Given the description of an element on the screen output the (x, y) to click on. 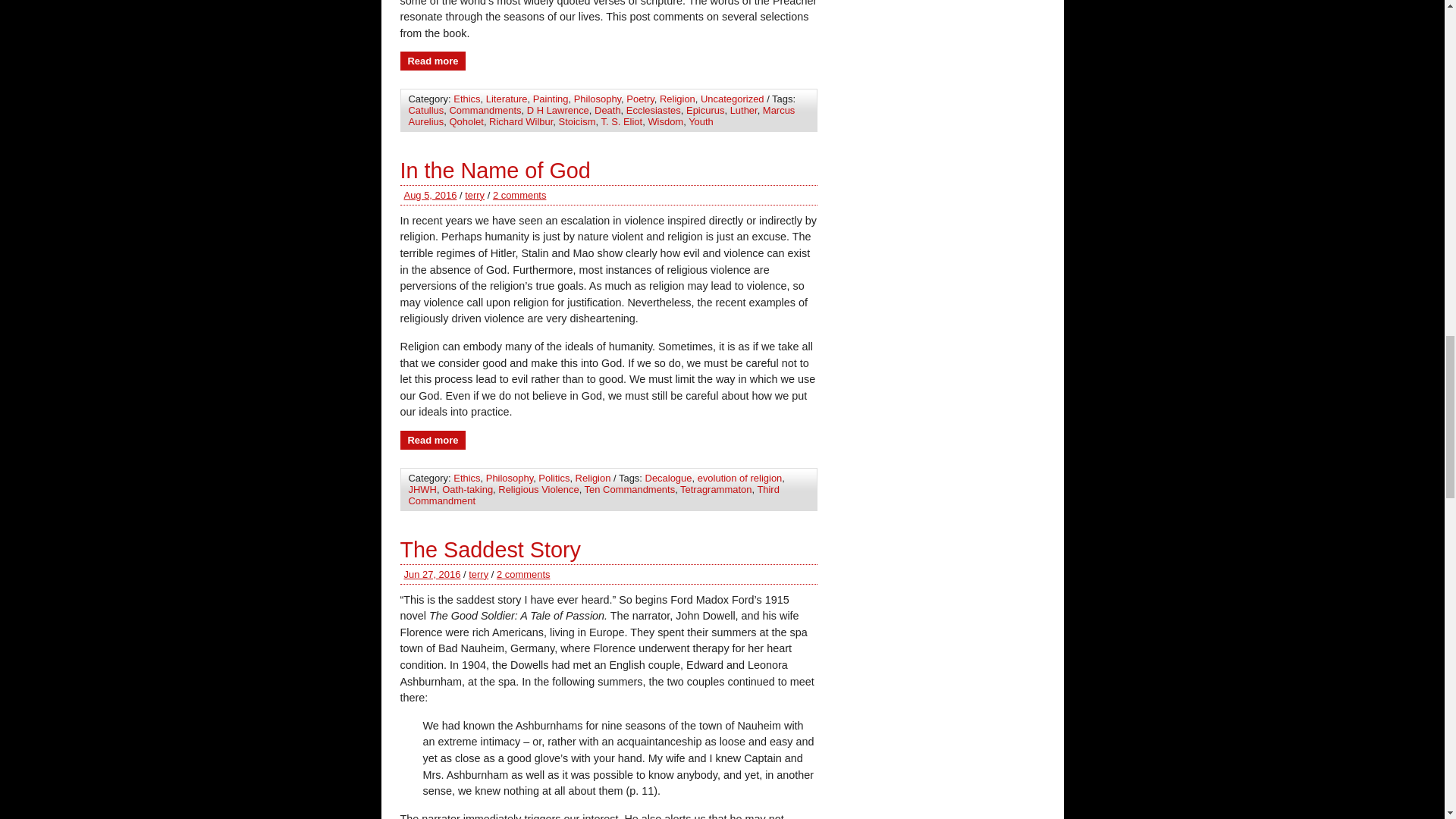
Posts by terry (474, 194)
Posts by terry (477, 573)
